Given the description of an element on the screen output the (x, y) to click on. 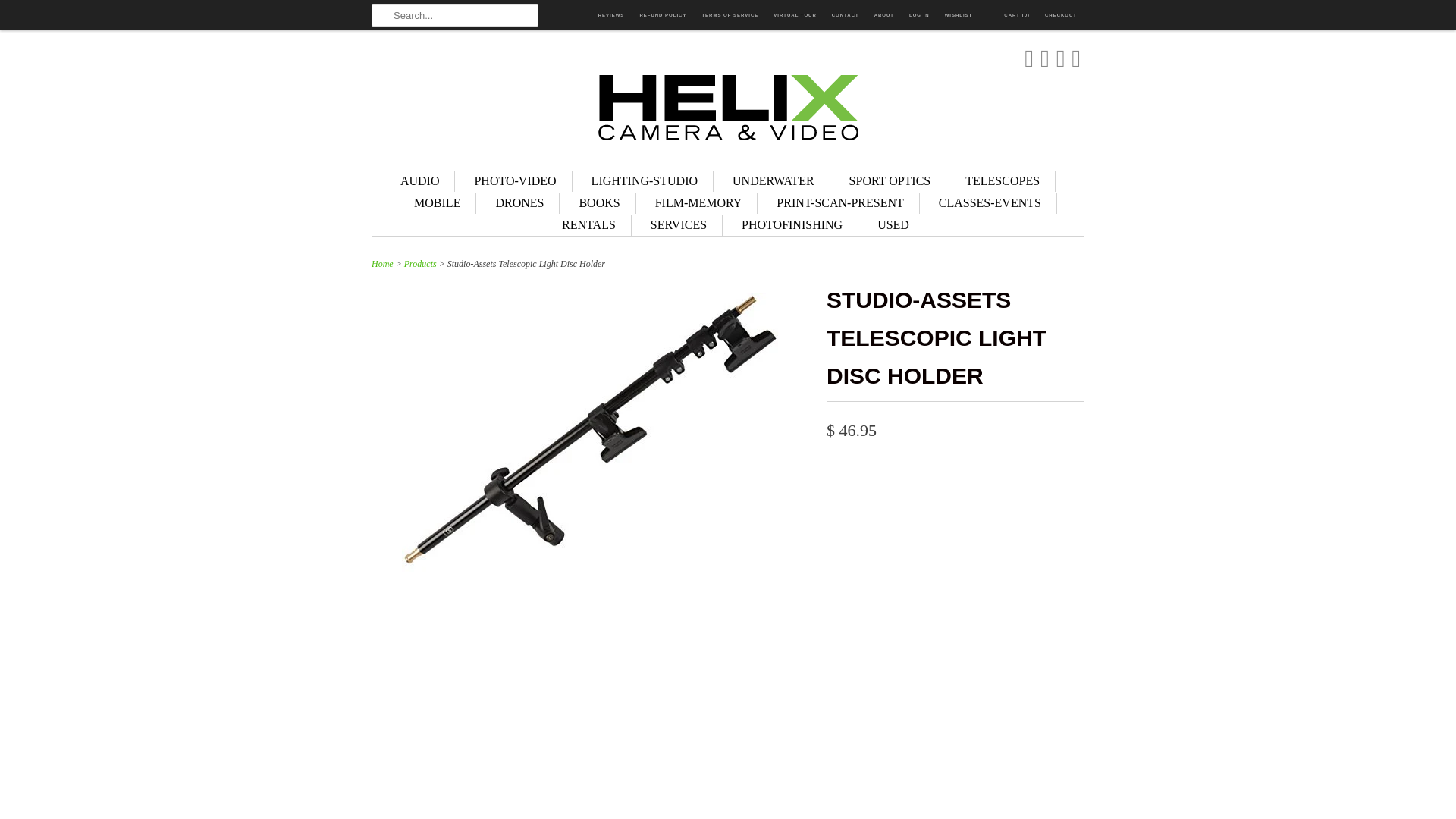
LIGHTING-STUDIO (644, 180)
Terms of Service (729, 15)
Refund policy (662, 15)
CLASSES-EVENTS (990, 202)
Audio (419, 180)
LOG IN (919, 15)
Contact (845, 15)
UNDERWATER (772, 180)
My Wishlist (958, 15)
REFUND POLICY (662, 15)
WISHLIST (958, 15)
Cart (1008, 15)
Home (382, 263)
Reviews (611, 15)
BOOKS (599, 202)
